Given the description of an element on the screen output the (x, y) to click on. 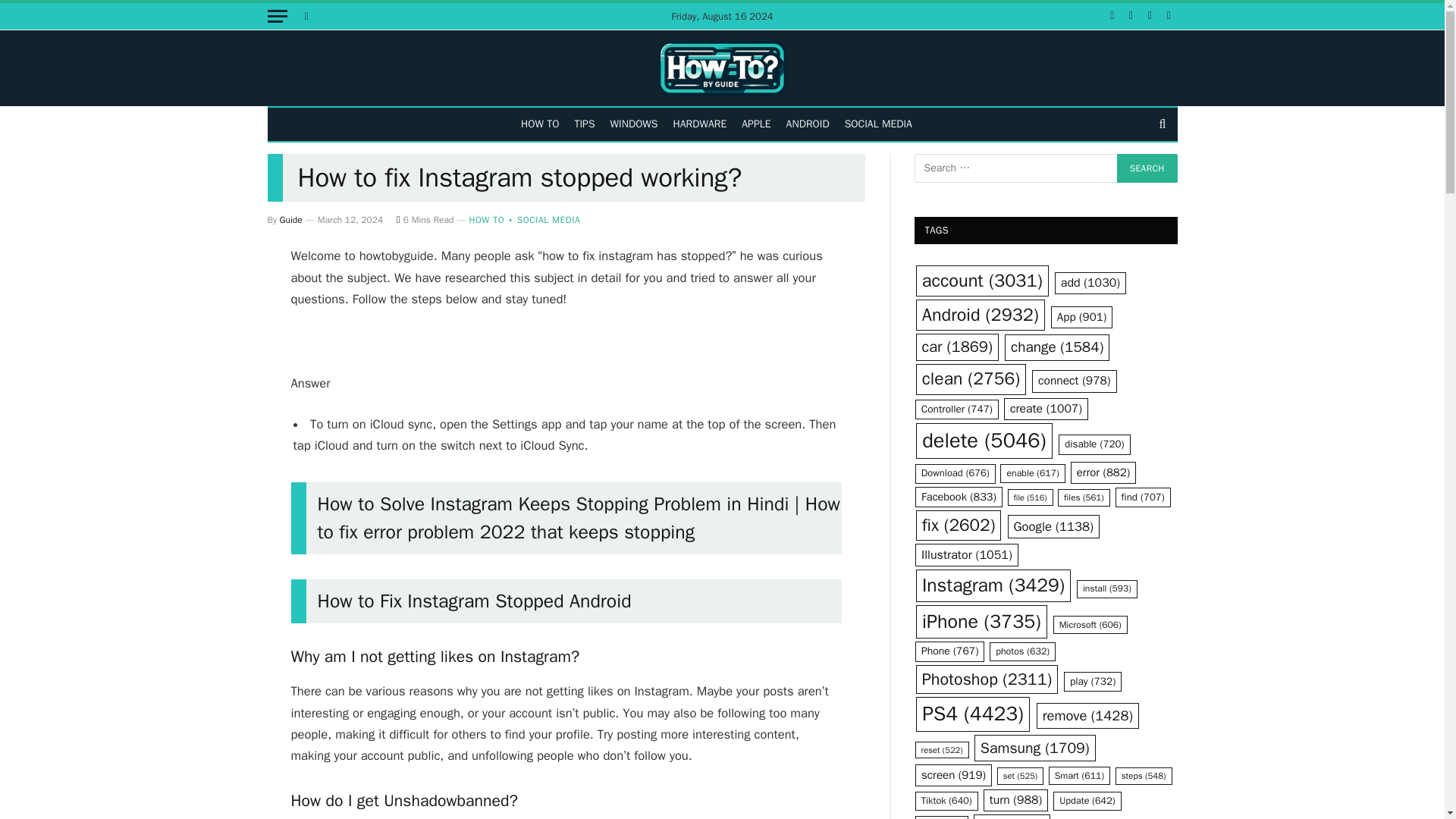
ANDROID (807, 123)
TIPS (584, 123)
APPLE (755, 123)
HOW TO (539, 123)
Posts by Guide (290, 219)
Search (1146, 167)
Switch to Dark Design - easier on eyes. (305, 15)
Guide (290, 219)
SOCIAL MEDIA (878, 123)
HARDWARE (700, 123)
